Given the description of an element on the screen output the (x, y) to click on. 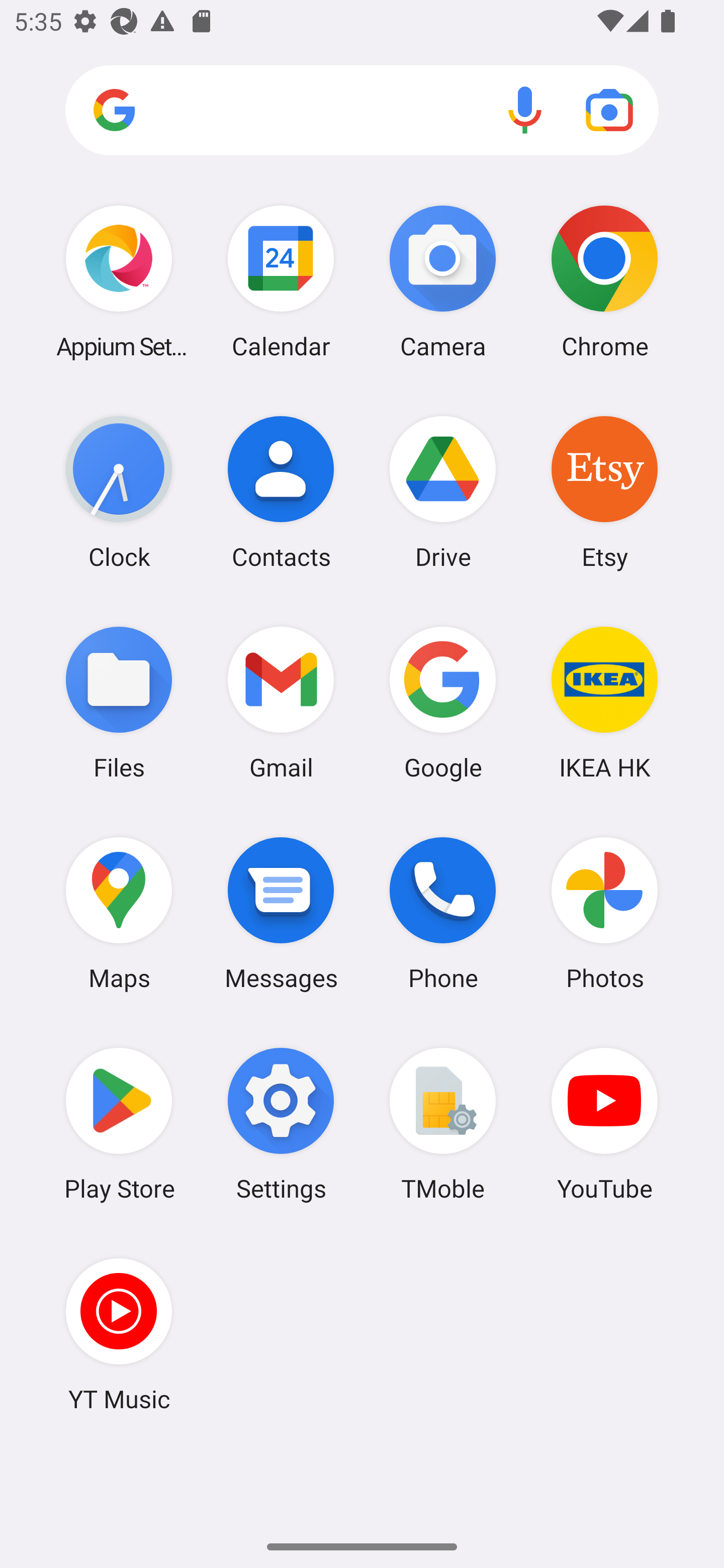
Search apps, web and more (361, 110)
Voice search (524, 109)
Google Lens (608, 109)
Appium Settings (118, 281)
Calendar (280, 281)
Camera (443, 281)
Chrome (604, 281)
Clock (118, 492)
Contacts (280, 492)
Drive (443, 492)
Etsy (604, 492)
Files (118, 702)
Gmail (280, 702)
Google (443, 702)
IKEA HK (604, 702)
Maps (118, 913)
Messages (280, 913)
Phone (443, 913)
Photos (604, 913)
Play Store (118, 1124)
Settings (280, 1124)
TMoble (443, 1124)
YouTube (604, 1124)
YT Music (118, 1334)
